Given the description of an element on the screen output the (x, y) to click on. 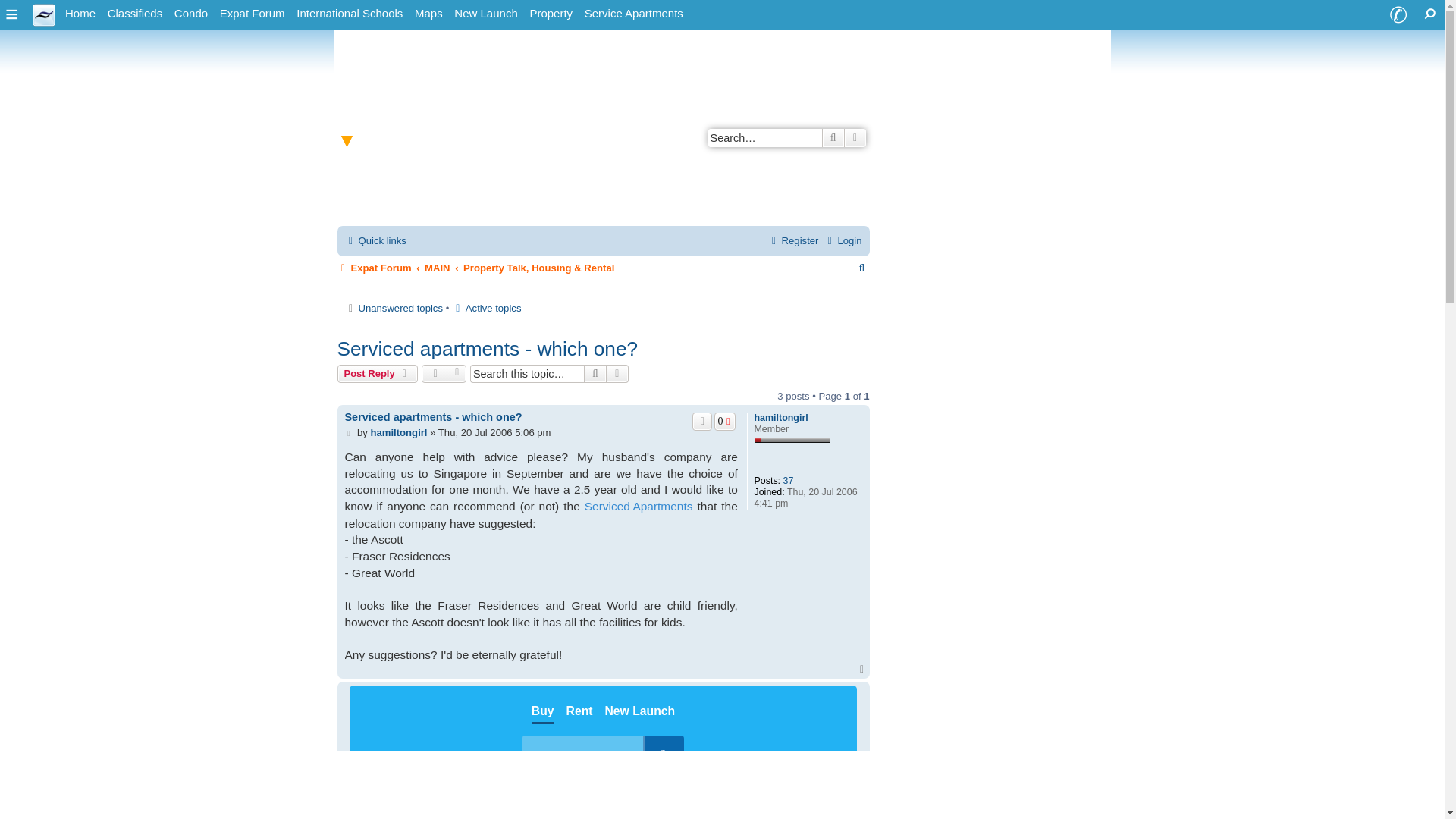
Home (80, 13)
Service Apartments (633, 13)
Maps (428, 13)
Condo (191, 13)
New Property Launch (485, 13)
Contact Us (1397, 15)
Expat Forum (252, 13)
Singapore Service Apartments (633, 13)
Singapore Expats (80, 13)
Singapore International Schools (349, 13)
